Given the description of an element on the screen output the (x, y) to click on. 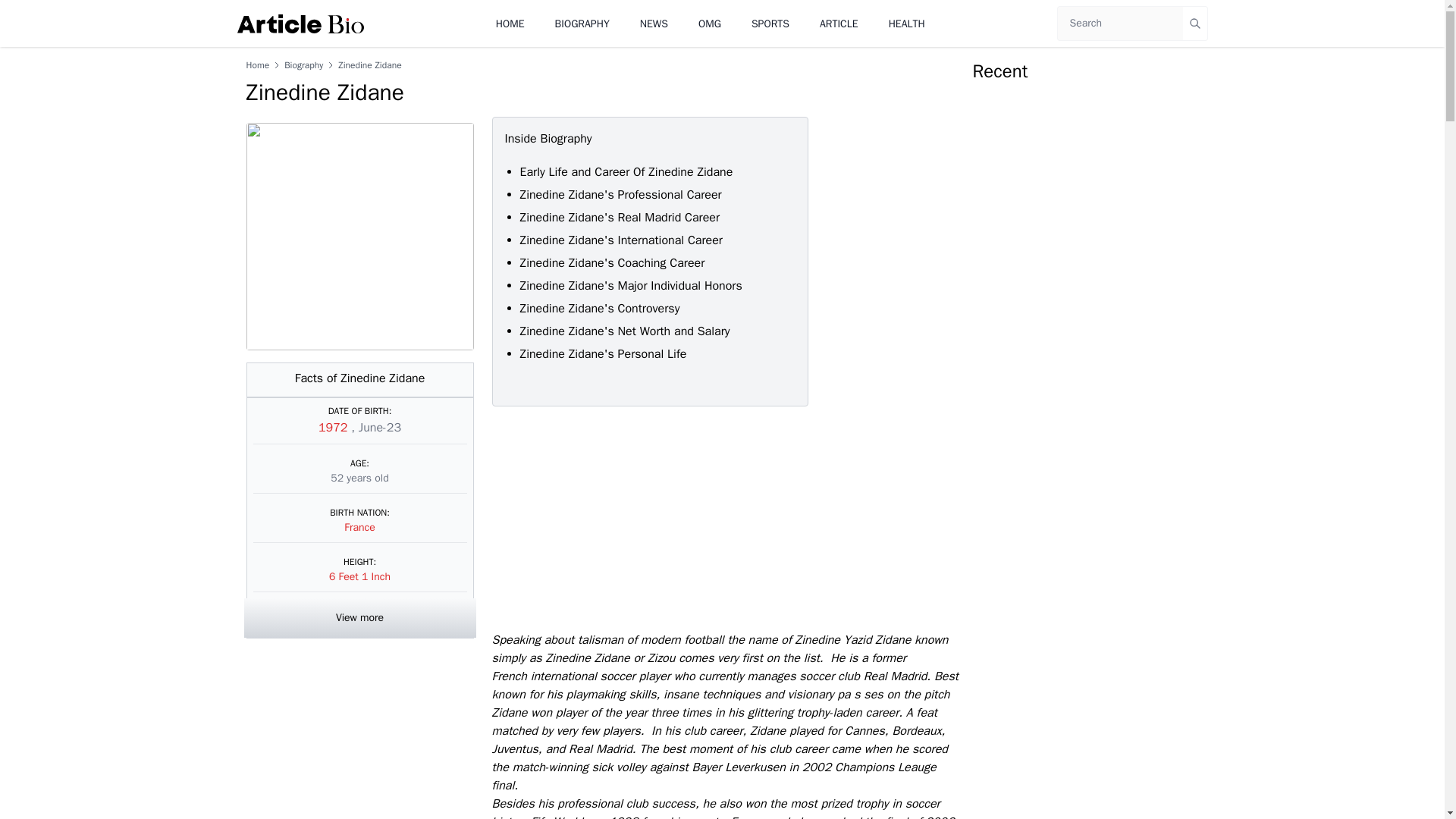
Zinedine Zidane's Net Worth and Salary  (626, 331)
HEALTH (906, 23)
NEWS (654, 23)
Early Life and Career Of Zinedine Zidane (626, 171)
Zinedine Zidane's Personal Life (603, 353)
Zinedine Zidane's International Career (620, 240)
Zinedine Zidane's Coaching Career  (614, 263)
Zinedine Zidane's Professional Career (620, 194)
Zinedine Zidane's Controversy  (601, 308)
6 Feet 1 Inch (359, 576)
HOME (510, 23)
1972 (334, 427)
ARTICLE (839, 23)
OMG (709, 23)
France (359, 526)
